Given the description of an element on the screen output the (x, y) to click on. 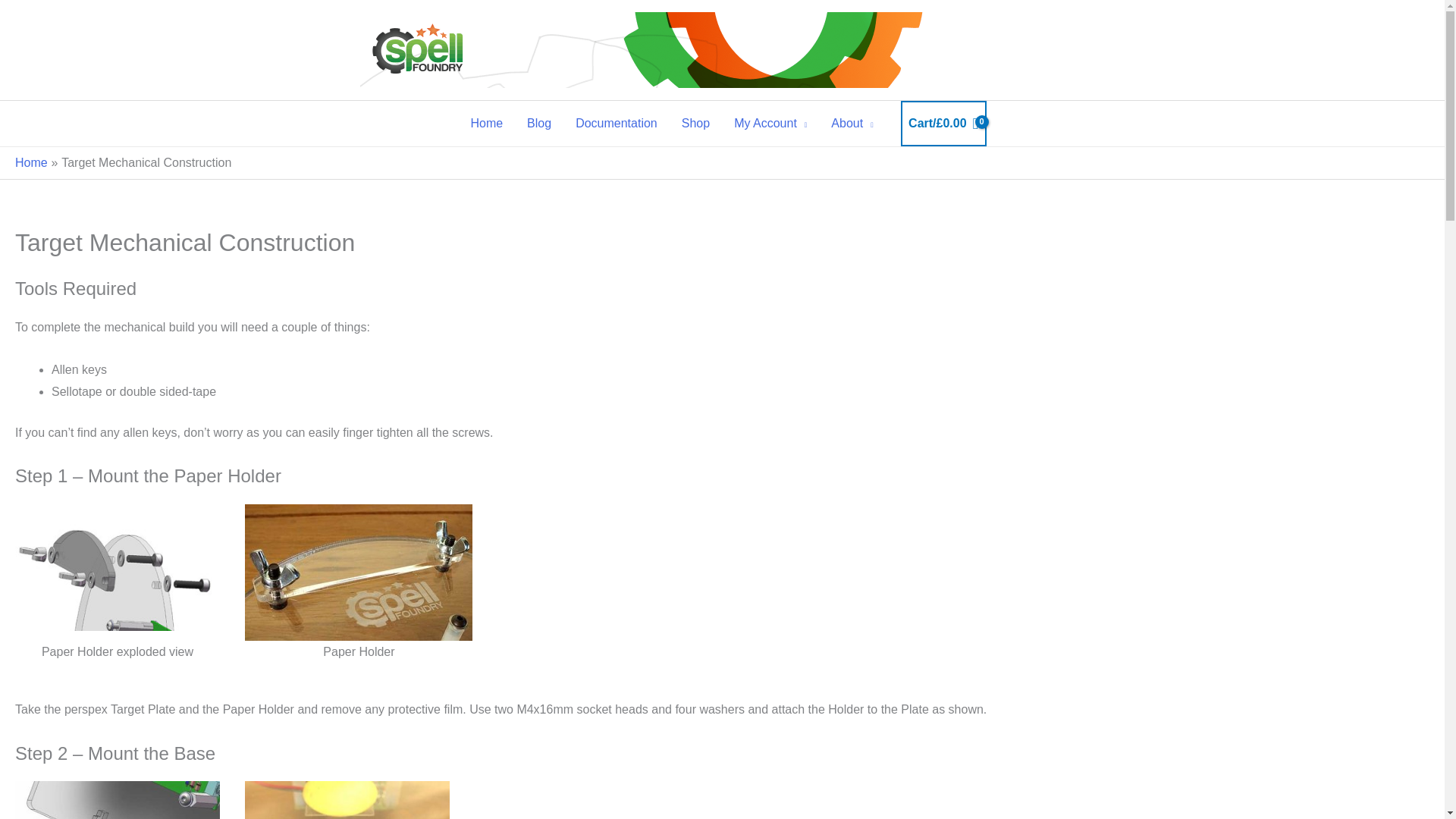
Original price:0 (951, 123)
Documentation (616, 123)
Home (31, 162)
Blog (539, 123)
About (851, 123)
My Account (770, 123)
Home (486, 123)
Shop (695, 123)
